Given the description of an element on the screen output the (x, y) to click on. 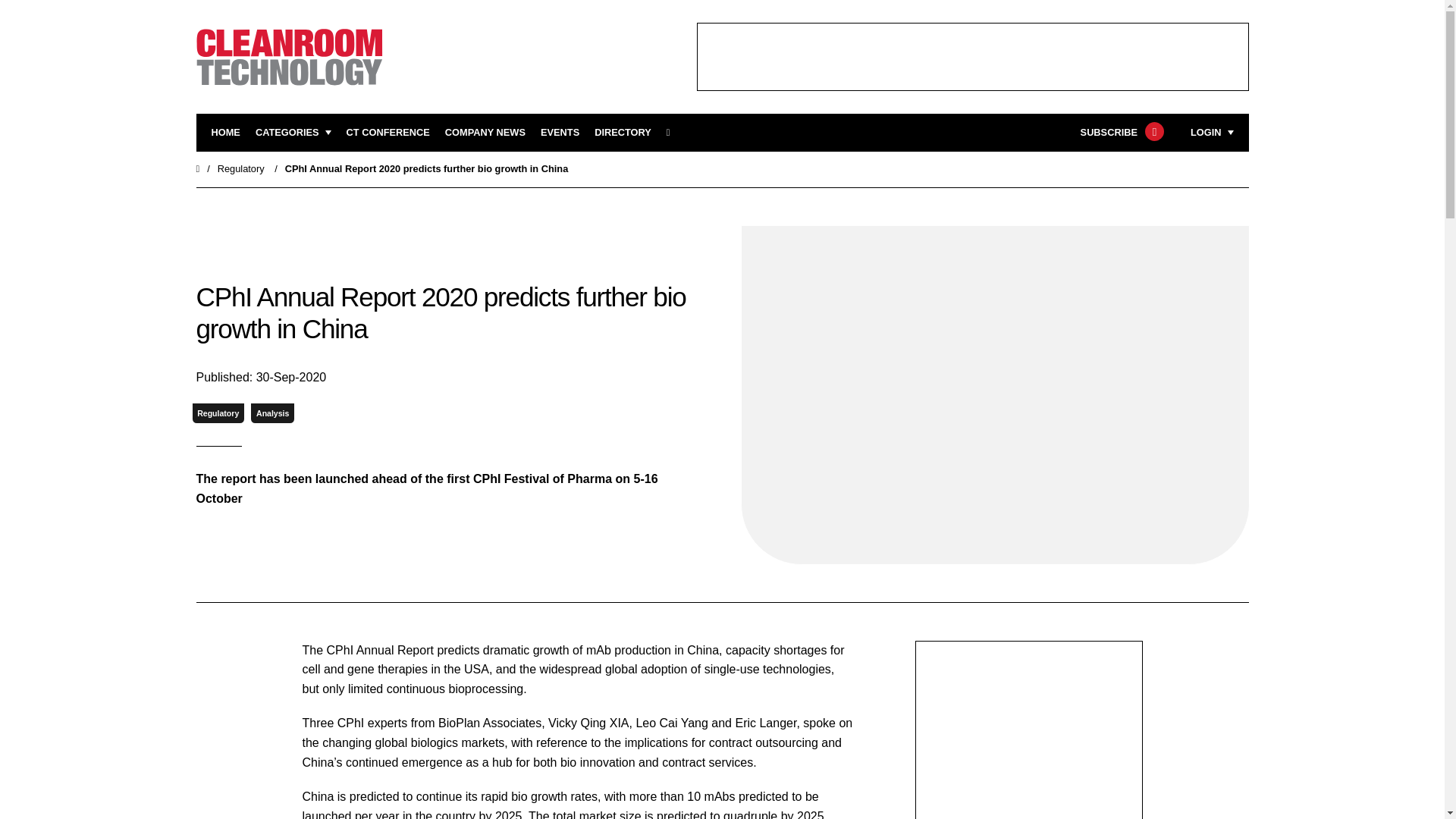
EVENTS (559, 133)
Regulatory (240, 168)
Directory (622, 133)
SEARCH (672, 133)
SUBSCRIBE (1120, 133)
Sign In (1134, 321)
COMPANY NEWS (485, 133)
HOME (225, 133)
CT CONFERENCE (387, 133)
DIRECTORY (622, 133)
